Given the description of an element on the screen output the (x, y) to click on. 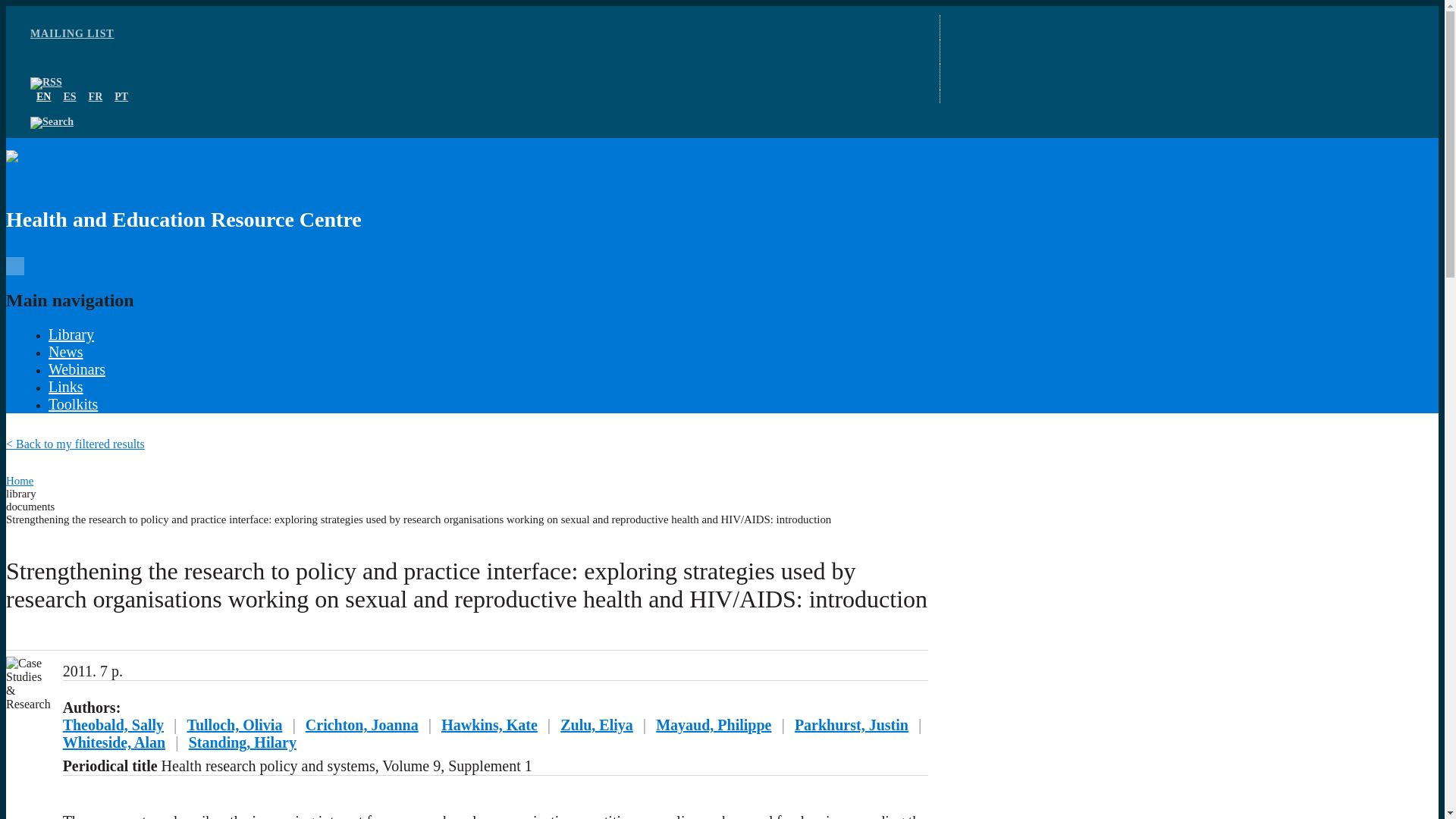
News (65, 351)
PT (121, 96)
Tulloch, Olivia (234, 724)
Hawkins, Kate (489, 724)
Health and Education Resource Centre (466, 196)
Zulu, Eliya (596, 724)
Mayaud, Philippe (713, 724)
Parkhurst, Justin (851, 724)
Library (71, 334)
MAILING LIST (72, 33)
FR (95, 96)
Toolkits (72, 403)
ES (68, 96)
Theobald, Sally (112, 724)
EN (43, 96)
